Given the description of an element on the screen output the (x, y) to click on. 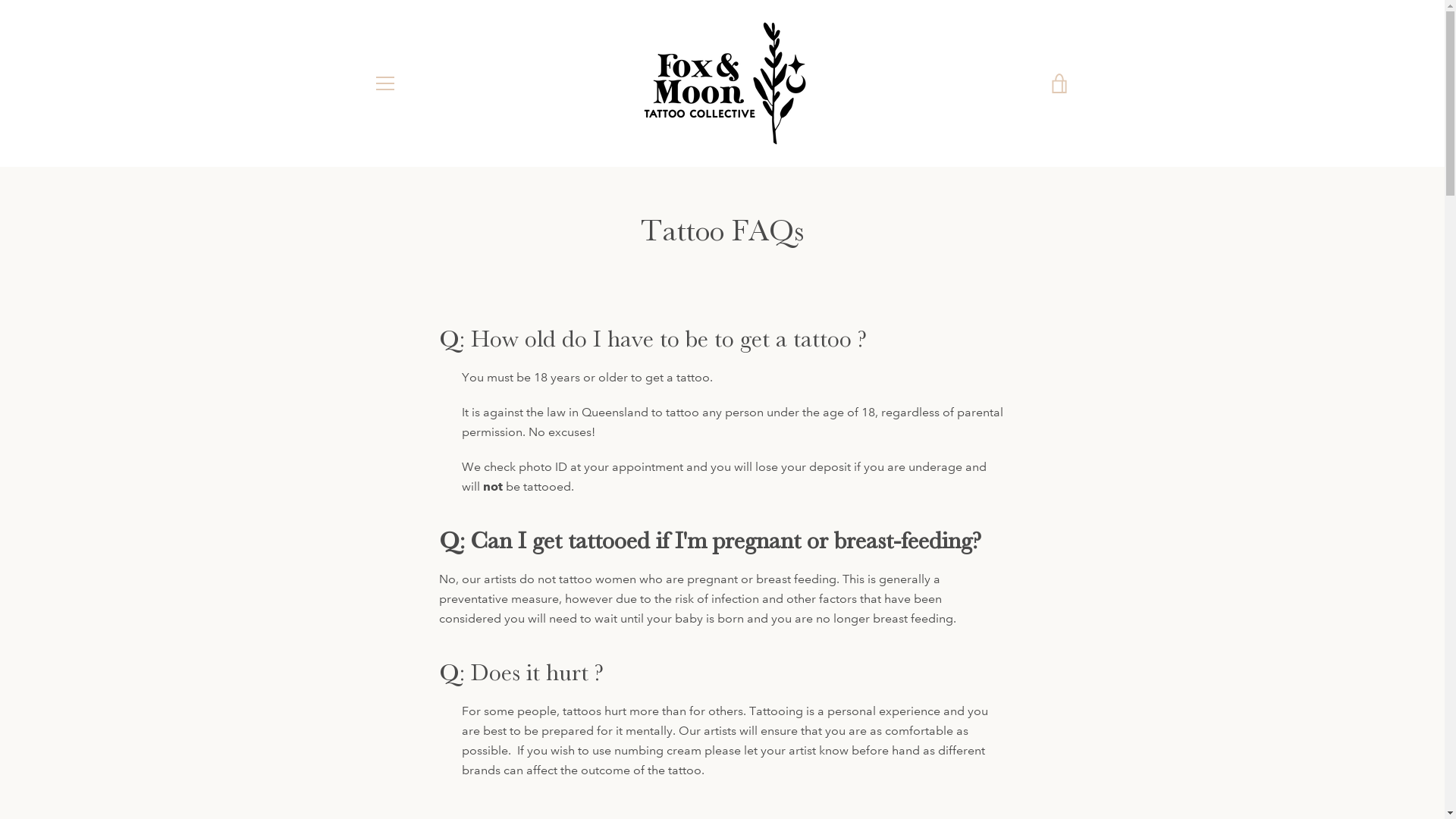
foxandmoontattoo Element type: text (735, 756)
Powered by Shopify Element type: text (770, 766)
VIEW CART Element type: text (1059, 83)
SUBSCRIBE Element type: text (1031, 679)
FOLLOW US @FOXANDMOONTATTOO Element type: text (468, 609)
Instagram Element type: text (398, 765)
MENU Element type: text (384, 83)
Skip to content Element type: text (0, 0)
Facebook Element type: text (372, 765)
